Given the description of an element on the screen output the (x, y) to click on. 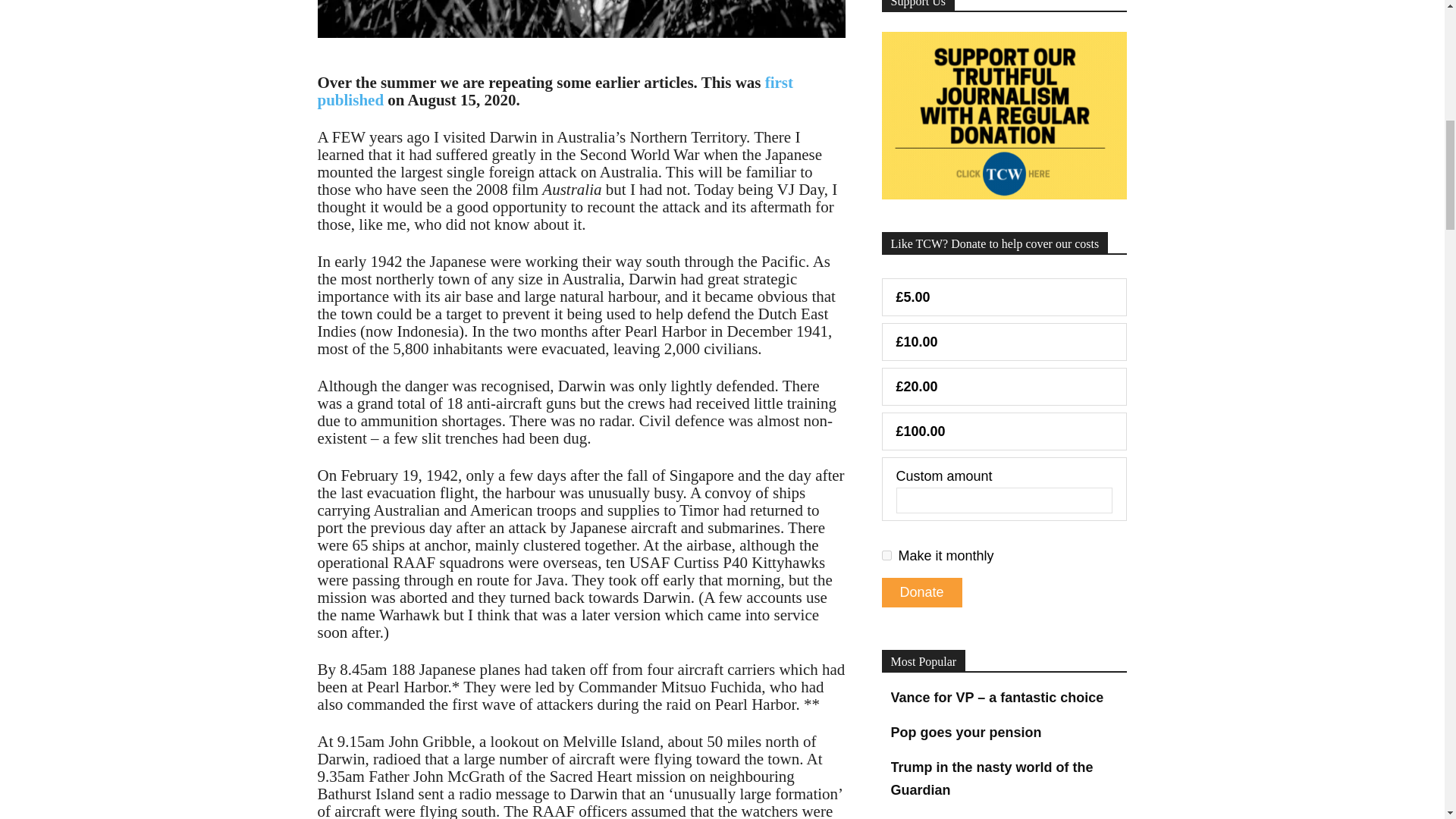
month (885, 555)
